Given the description of an element on the screen output the (x, y) to click on. 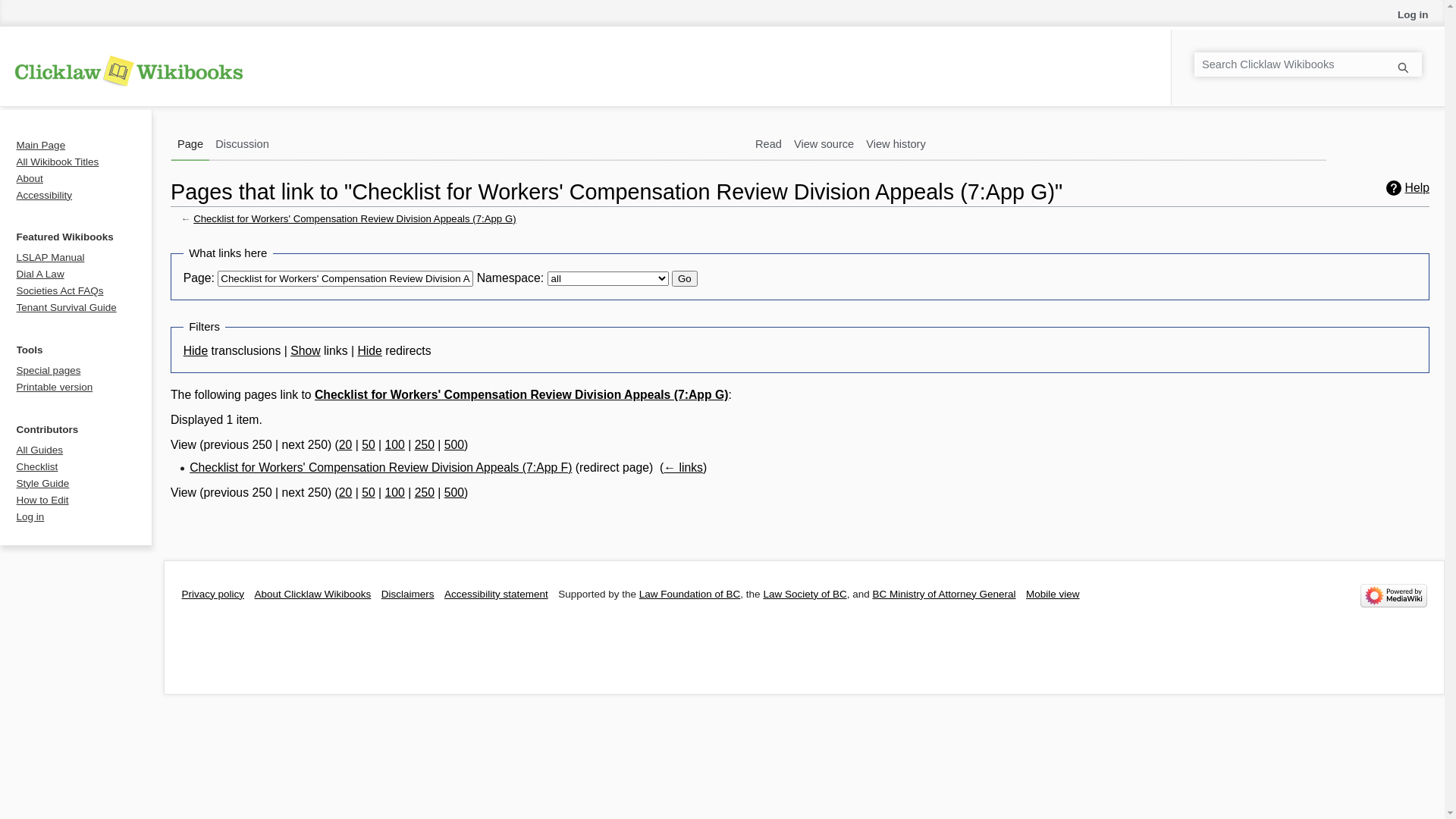
BC Ministry of Attorney General Element type: text (943, 593)
Log in Element type: text (30, 516)
About Element type: text (29, 178)
Hide Element type: text (195, 350)
250 Element type: text (424, 492)
50 Element type: text (368, 492)
Style Guide Element type: text (42, 483)
Societies Act FAQs Element type: text (59, 290)
All Wikibook Titles Element type: text (57, 161)
Go to a page with this exact name if it exists Element type: hover (1402, 67)
Printable version Element type: text (54, 386)
500 Element type: text (454, 444)
Law Society of BC Element type: text (804, 593)
Special pages Element type: text (48, 370)
Hide Element type: text (369, 350)
Help Element type: text (1407, 187)
100 Element type: text (394, 492)
View history Element type: text (895, 141)
Main Page Element type: text (40, 144)
Jump to navigation Element type: text (169, 238)
About Clicklaw Wikibooks Element type: text (312, 593)
Mobile view Element type: text (1052, 593)
500 Element type: text (454, 492)
Go Element type: text (684, 278)
Search the pages for this text Element type: hover (1408, 52)
Accessibility Element type: text (44, 194)
LSLAP Manual Element type: text (50, 257)
Read Element type: text (768, 141)
Disclaimers Element type: text (407, 593)
50 Element type: text (368, 444)
Checklist Element type: text (37, 466)
Page Element type: text (190, 141)
Tenant Survival Guide Element type: text (66, 307)
Search Element type: text (1408, 52)
Log in Element type: text (1412, 14)
How to Edit Element type: text (42, 499)
View source Element type: text (823, 141)
Law Foundation of BC Element type: text (689, 593)
Accessibility statement Element type: text (496, 593)
Show Element type: text (305, 350)
250 Element type: text (424, 444)
20 Element type: text (345, 444)
Dial A Law Element type: text (40, 273)
100 Element type: text (394, 444)
All Guides Element type: text (39, 449)
Go Element type: text (1402, 67)
20 Element type: text (345, 492)
Discussion Element type: text (242, 141)
Search Clicklaw Wikibooks [alt-shift-f] Element type: hover (1307, 64)
Privacy policy Element type: text (213, 593)
